Given the description of an element on the screen output the (x, y) to click on. 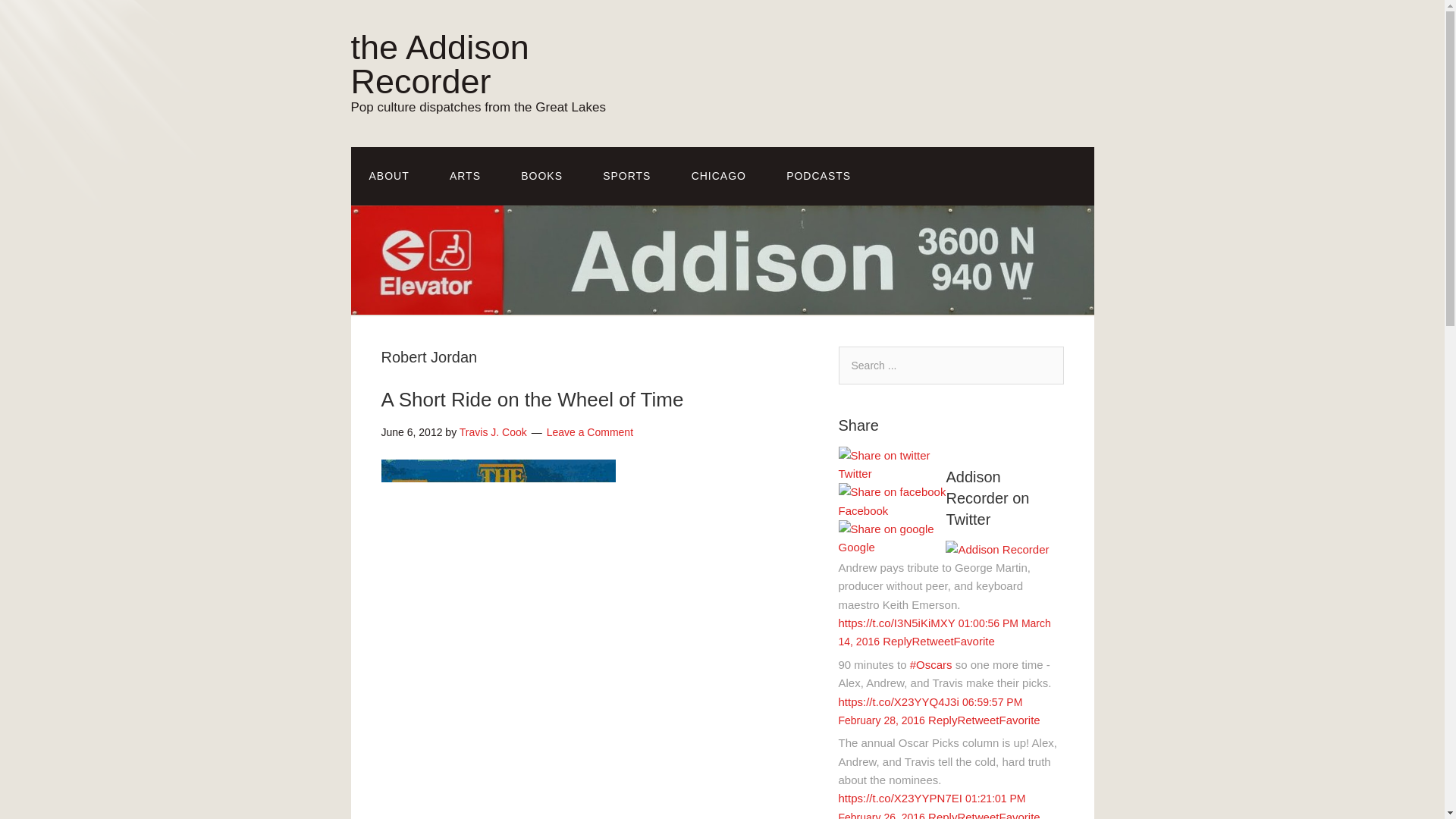
Reply (896, 640)
PODCASTS (818, 176)
CHICAGO (718, 176)
Posts by Travis J. Cook (493, 431)
Leave a Comment (590, 431)
Travis J. Cook (493, 431)
Google (892, 547)
Retweet (932, 640)
A Short Ride on the Wheel of Time (531, 399)
BOOKS (541, 176)
Facebook (892, 511)
ABOUT (388, 176)
the Addison Recorder (439, 63)
Wednesday, June 6, 2012, 12:00 am (411, 431)
google (886, 529)
